Given the description of an element on the screen output the (x, y) to click on. 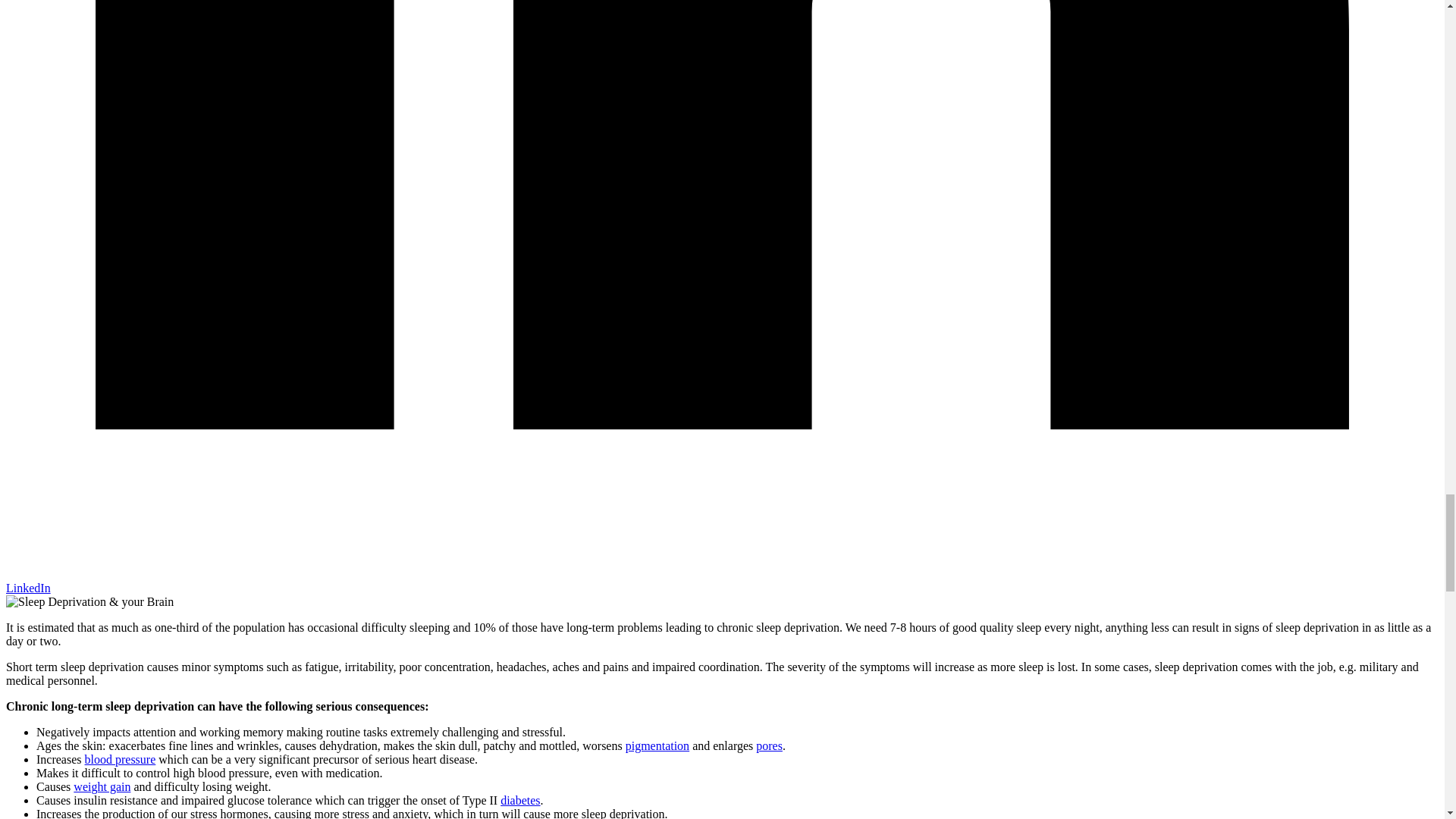
weight gain (102, 786)
pores (769, 745)
pigmentation (657, 745)
blood pressure (119, 758)
diabetes (520, 799)
